Given the description of an element on the screen output the (x, y) to click on. 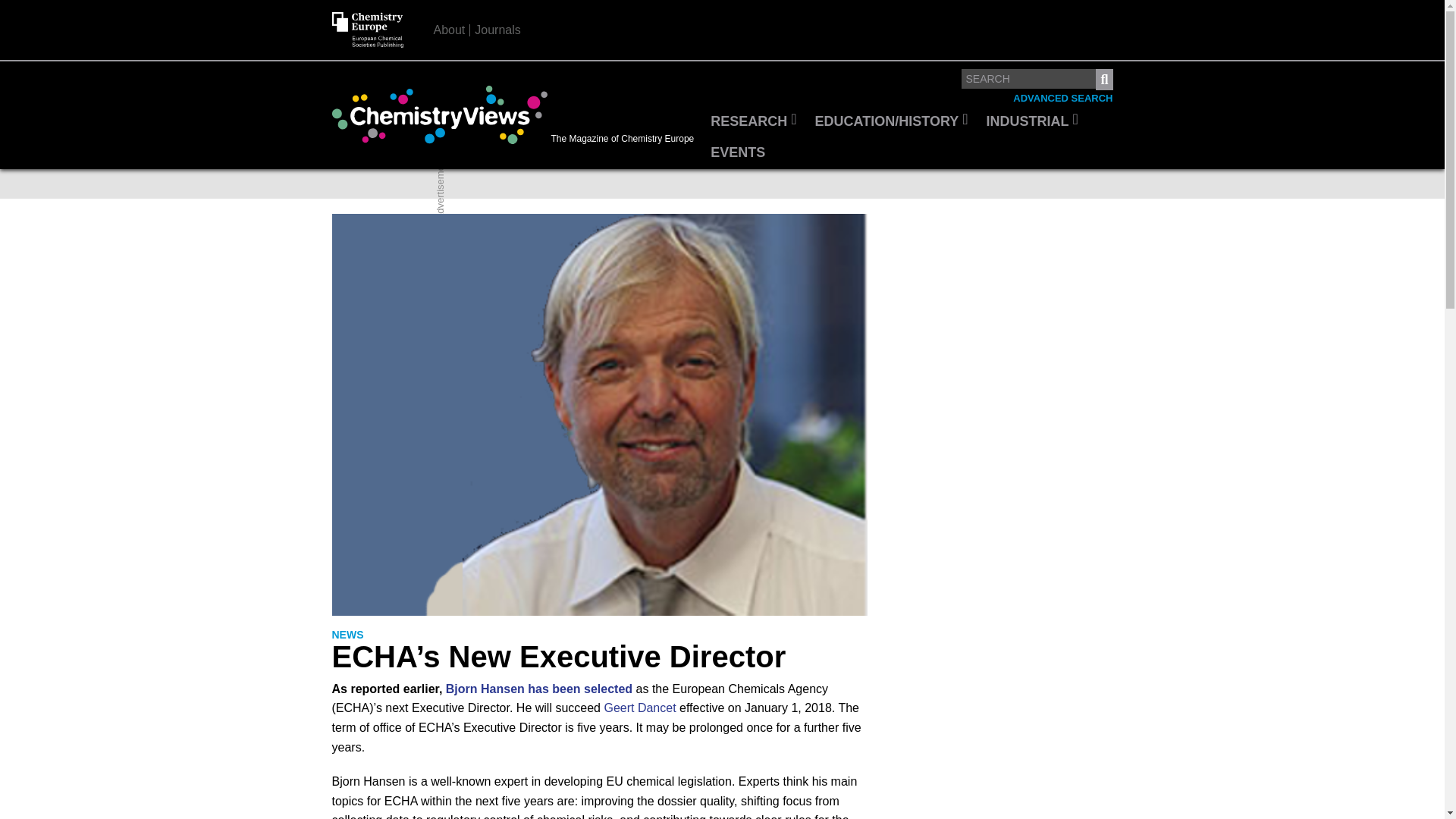
Bjorn Hansen has been selected (538, 688)
Journals (496, 29)
ADVANCED SEARCH (1062, 98)
INDUSTRIAL (1031, 122)
Geert Dancet (639, 707)
NEWS (347, 634)
EVENTS (737, 152)
The Magazine of Chemistry Europe (516, 114)
RESEARCH (753, 122)
About (449, 29)
